Given the description of an element on the screen output the (x, y) to click on. 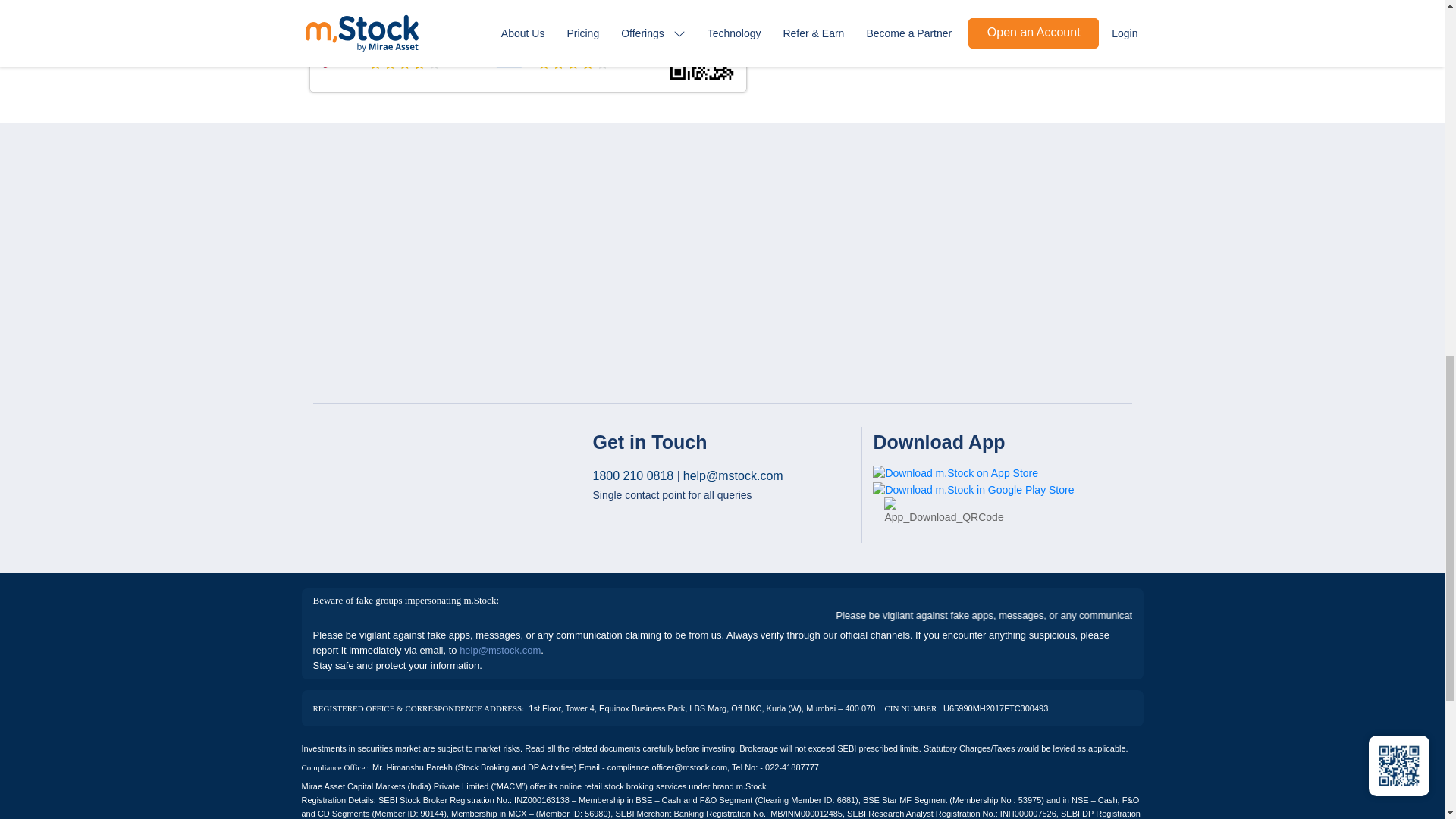
Download Best Trading App (943, 510)
Download Best Trading App (395, 48)
Download Best Share Market App (973, 489)
